Given the description of an element on the screen output the (x, y) to click on. 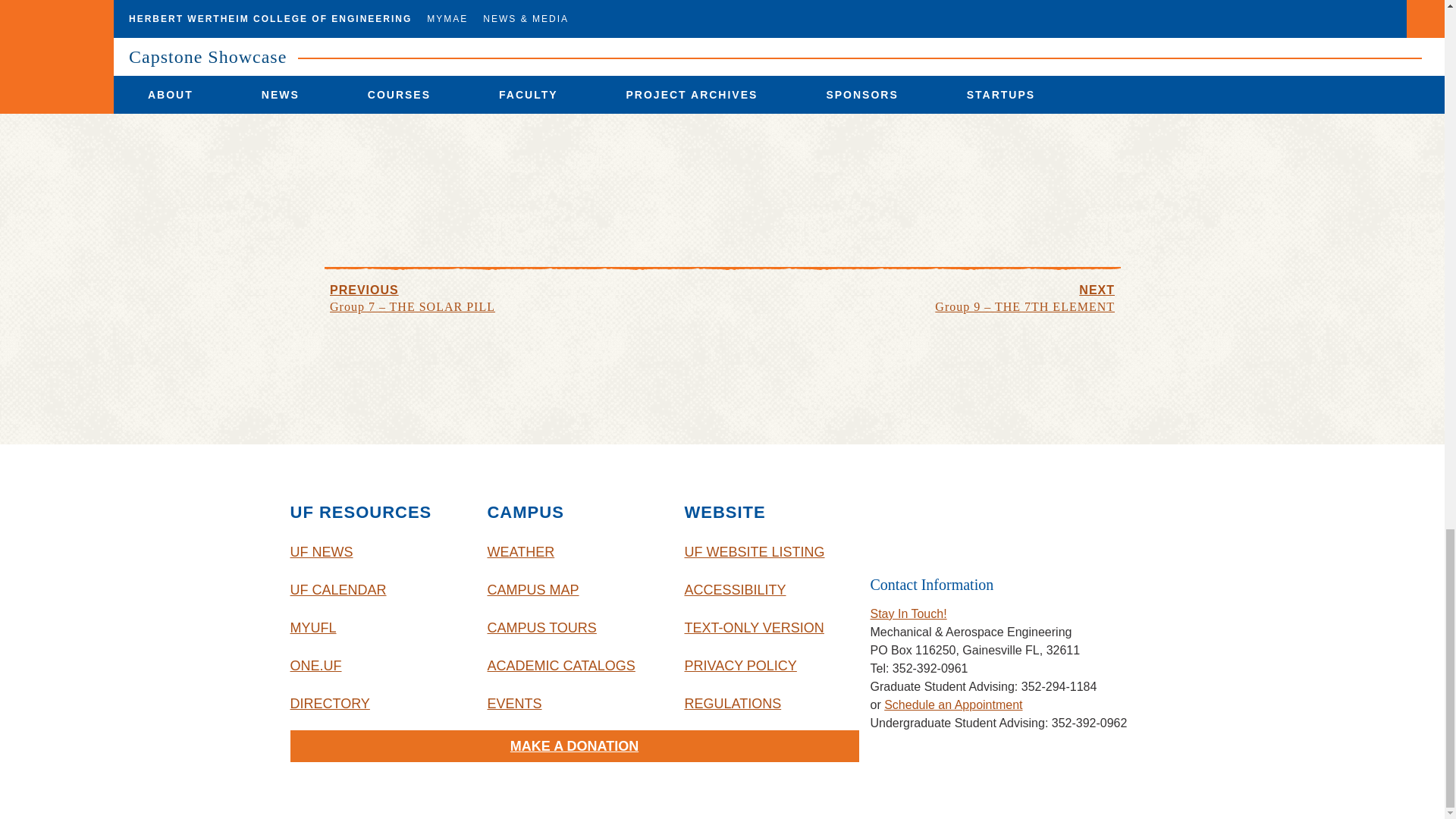
UF CALENDAR (376, 589)
WEATHER (573, 551)
Stay In Touch! (908, 613)
ACADEMIC CATALOGS (573, 665)
Schedule an Appointment (952, 704)
University of Florida (992, 523)
CAMPUS TOURS (573, 628)
UF WEBSITE LISTING (771, 551)
EVENTS (573, 703)
